Given the description of an element on the screen output the (x, y) to click on. 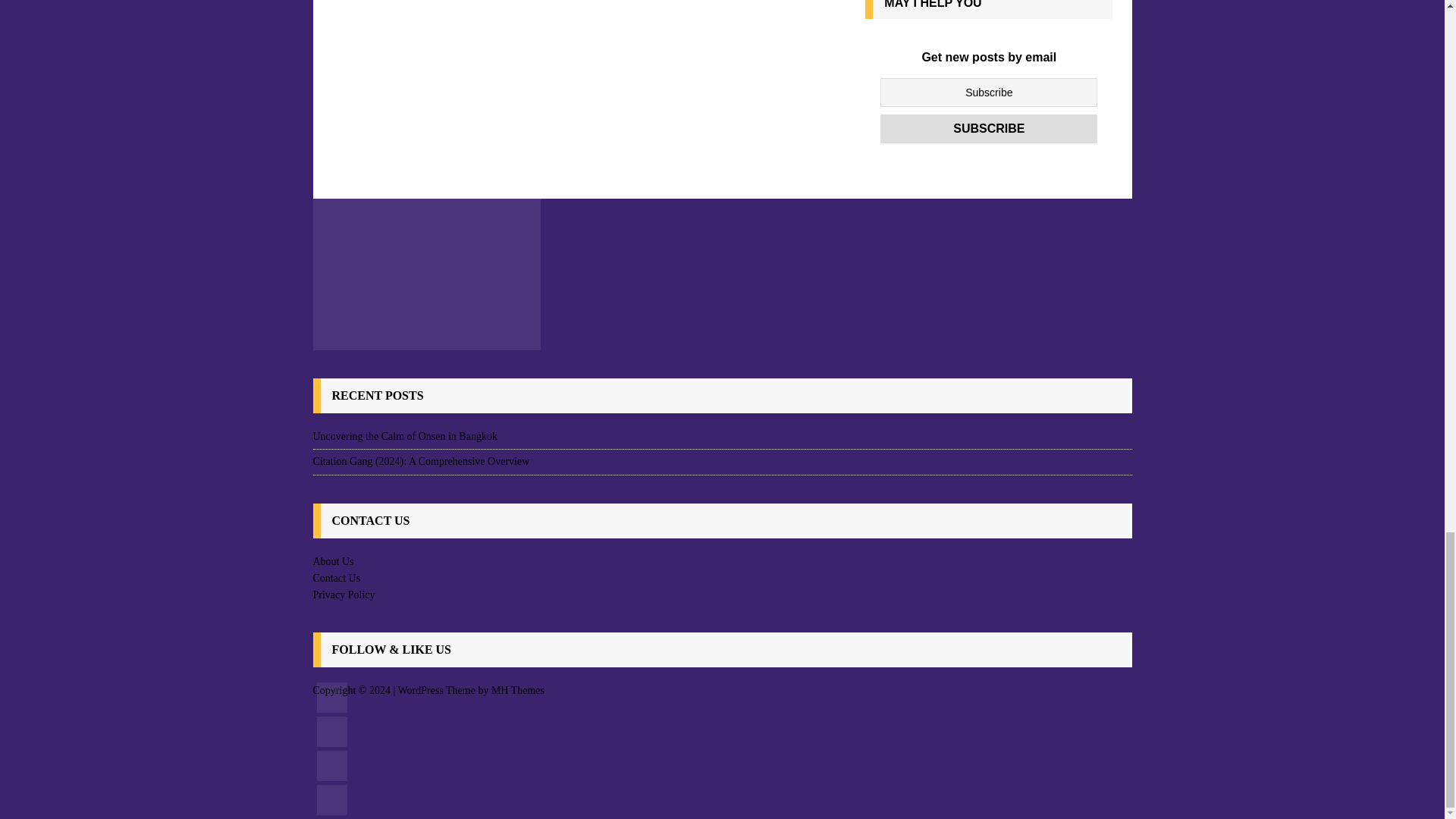
Follow by Email (332, 731)
Subscribe (988, 128)
Facebook (332, 766)
RSS (332, 697)
Twitter (332, 799)
